Given the description of an element on the screen output the (x, y) to click on. 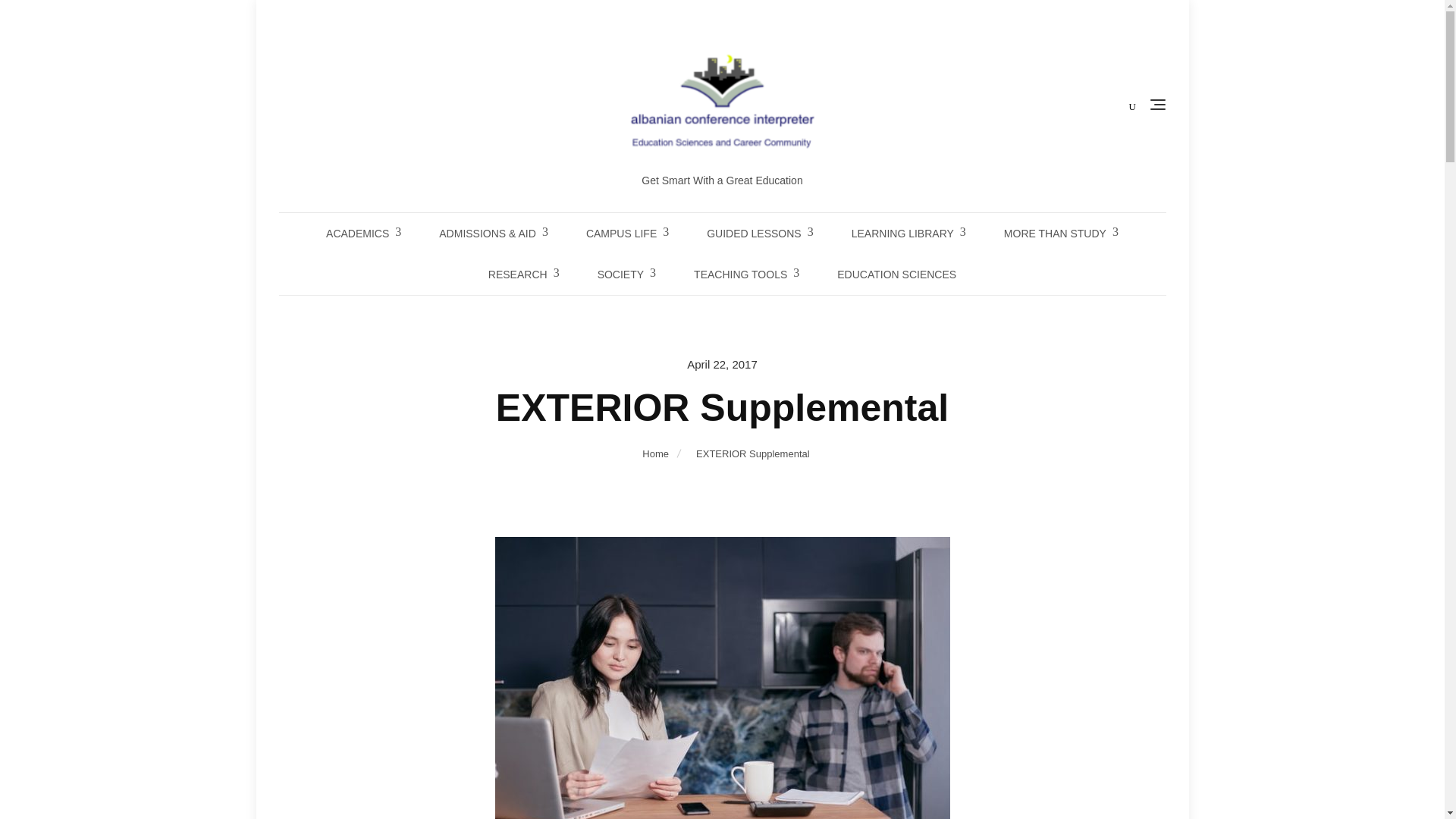
Search (42, 18)
